Given the description of an element on the screen output the (x, y) to click on. 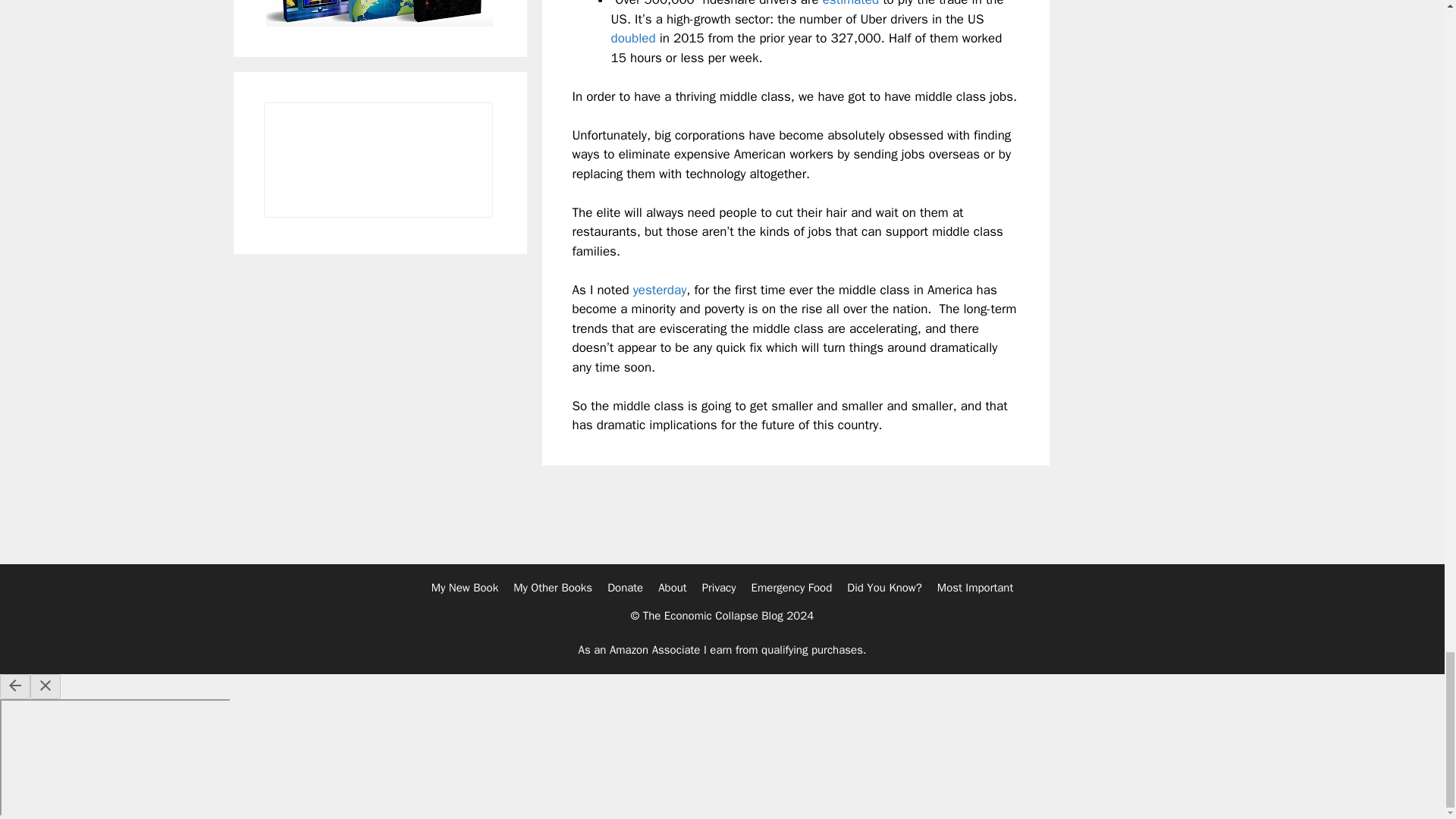
estimated (850, 3)
doubled (633, 37)
yesterday (660, 289)
